Given the description of an element on the screen output the (x, y) to click on. 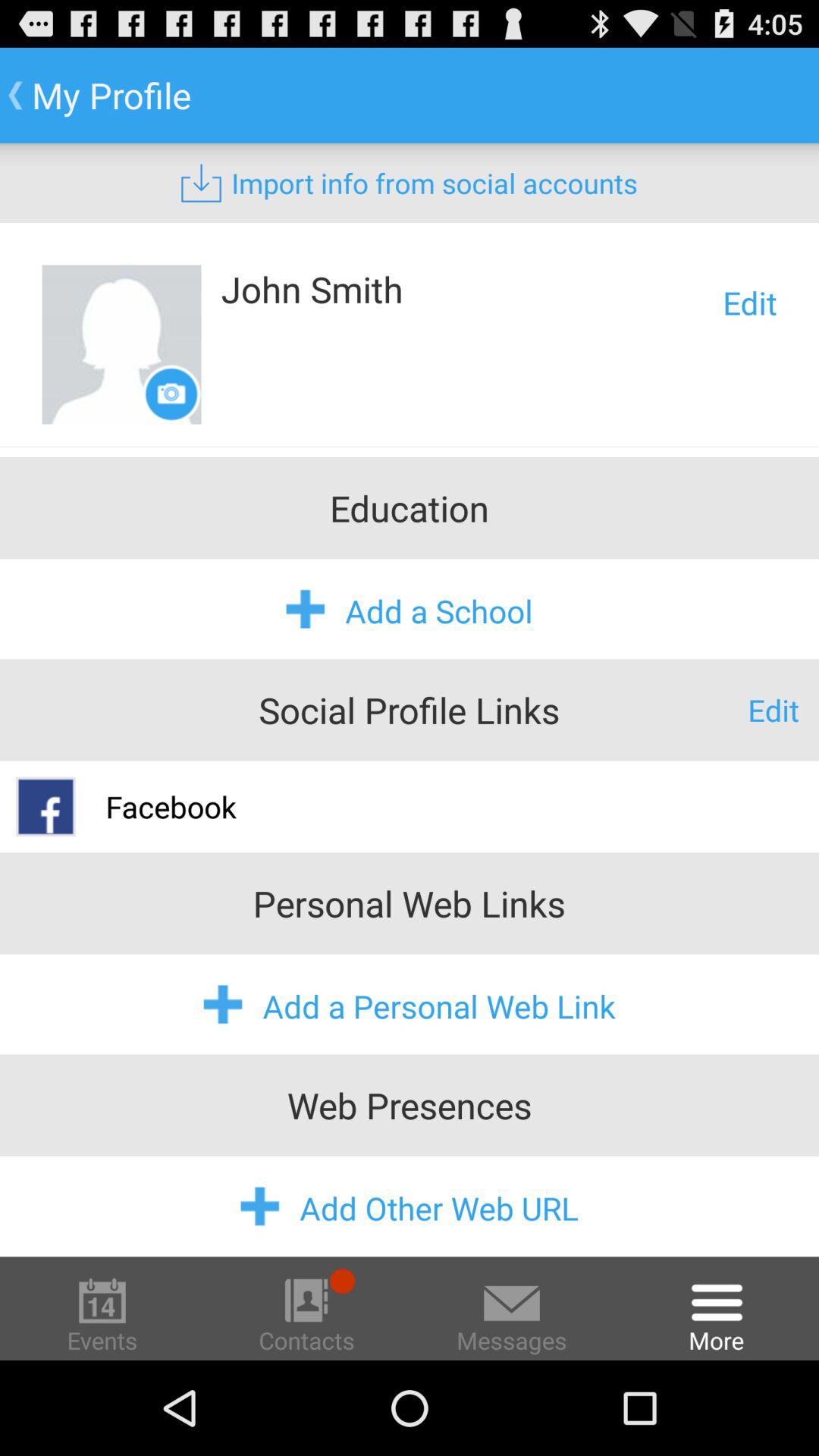
click on contacts (306, 1313)
go to the option right to the messages options (716, 1313)
